Given the description of an element on the screen output the (x, y) to click on. 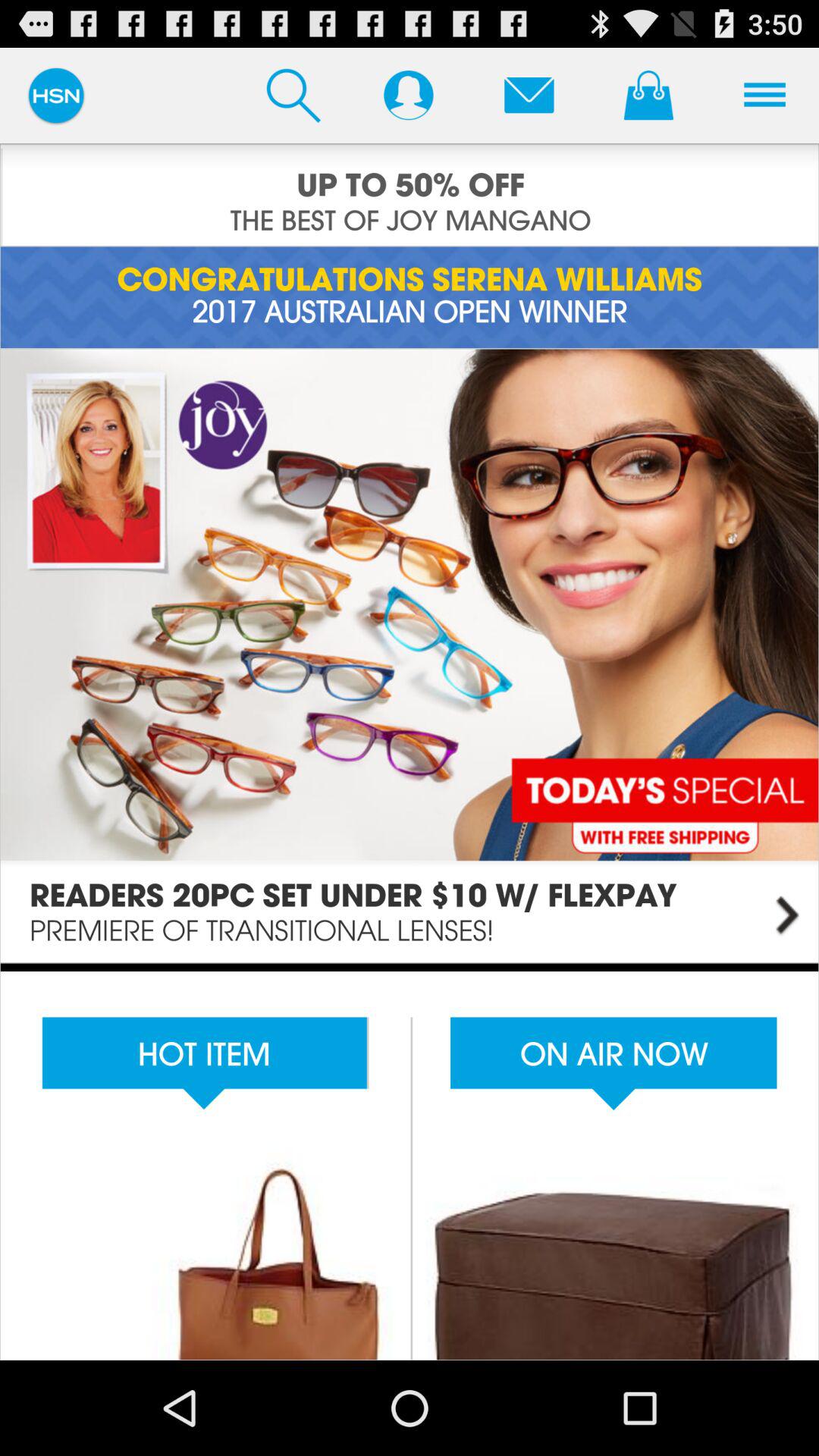
open profile (408, 95)
